Given the description of an element on the screen output the (x, y) to click on. 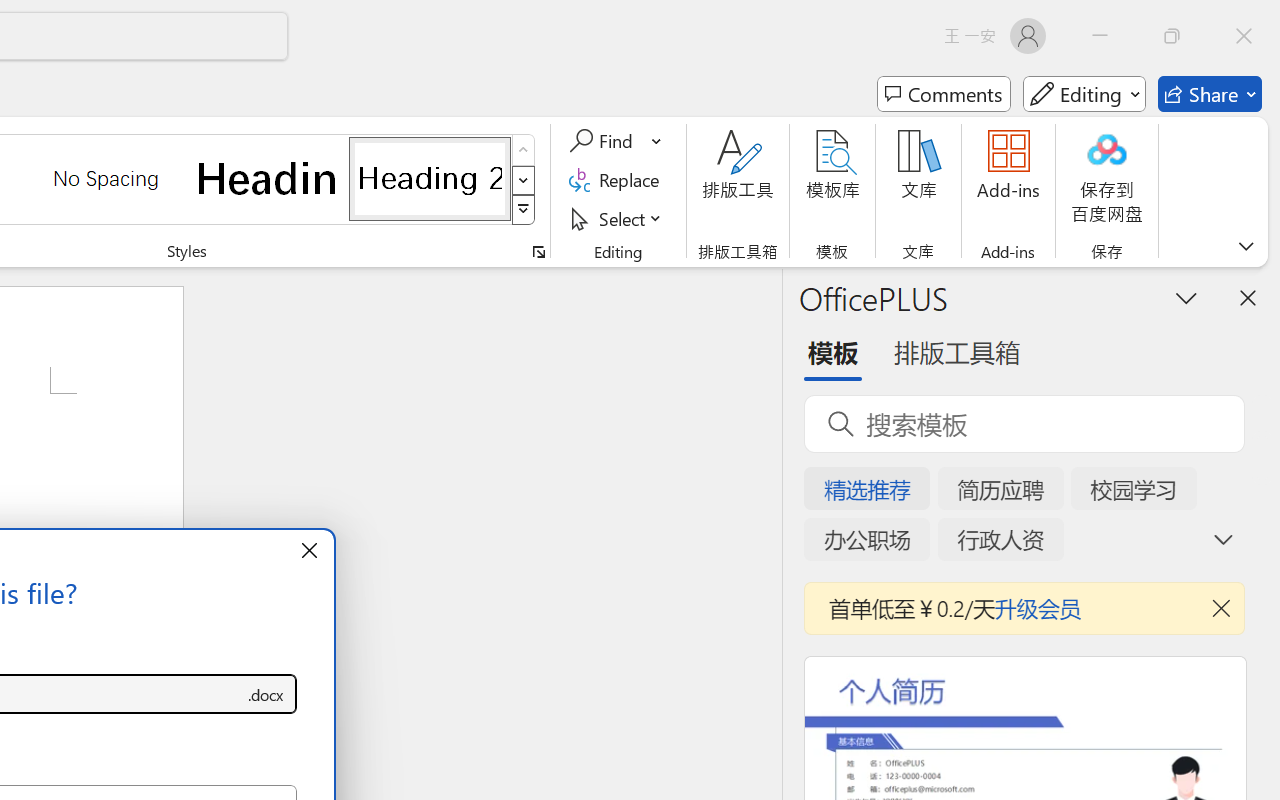
Select (618, 218)
Task Pane Options (1186, 297)
Replace... (617, 179)
Restore Down (1172, 36)
Class: NetUIImage (523, 210)
Row Down (523, 180)
Comments (943, 94)
Ribbon Display Options (1246, 245)
Heading 2 (429, 178)
